Given the description of an element on the screen output the (x, y) to click on. 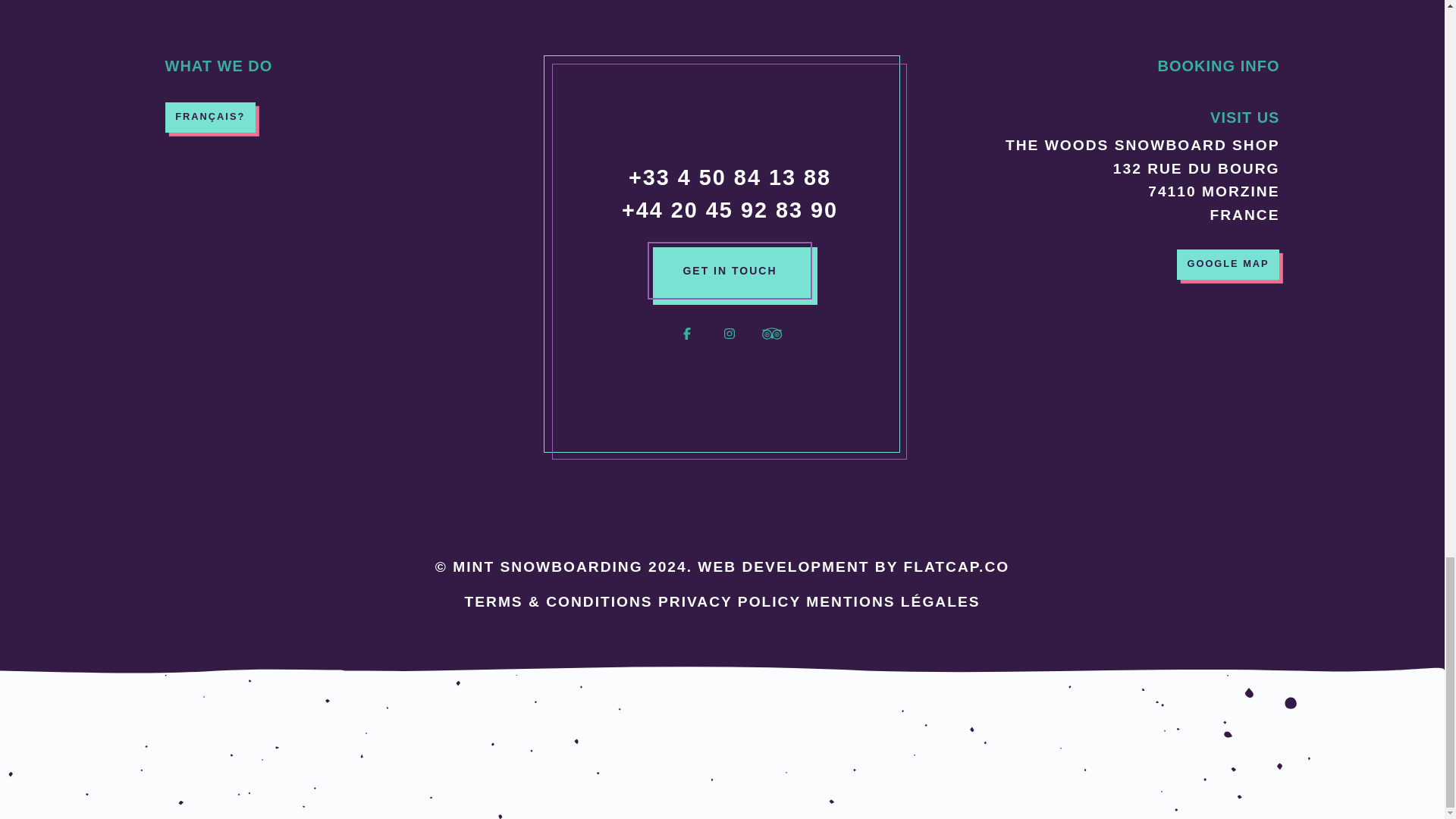
Follow Us On Instagram (729, 342)
Read our reviews on Tripadvisor (771, 342)
Follow Us On Facebook (687, 342)
